Given the description of an element on the screen output the (x, y) to click on. 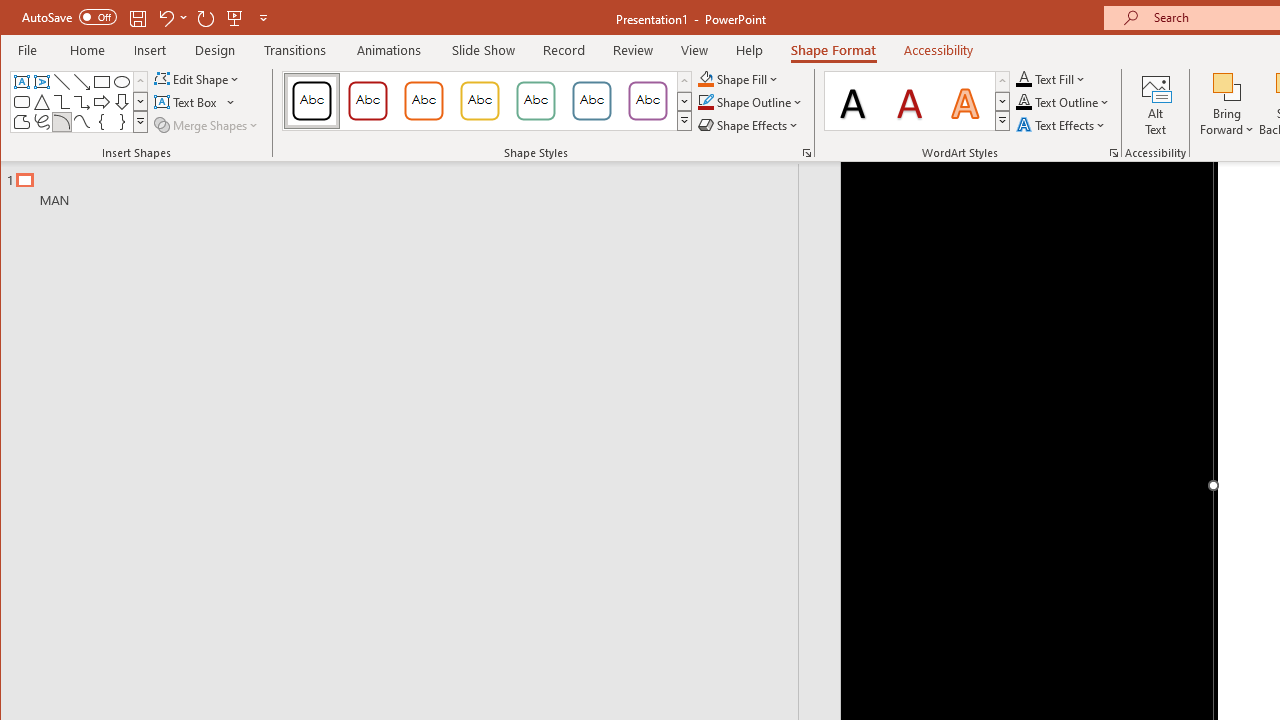
Text Outline RGB(0, 0, 0) (1023, 101)
Connector: Elbow (61, 102)
Design (215, 50)
AutomationID: ShapesInsertGallery (79, 102)
Redo (206, 17)
Arc (61, 121)
Colored Outline - Gold, Accent 3 (479, 100)
Shape Fill Orange, Accent 2 (705, 78)
Shape Outline (750, 101)
Shape Outline Blue, Accent 1 (705, 101)
AutomationID: TextStylesGallery (917, 101)
Connector: Elbow Arrow (81, 102)
Transitions (294, 50)
Format Text Effects... (1113, 152)
